Given the description of an element on the screen output the (x, y) to click on. 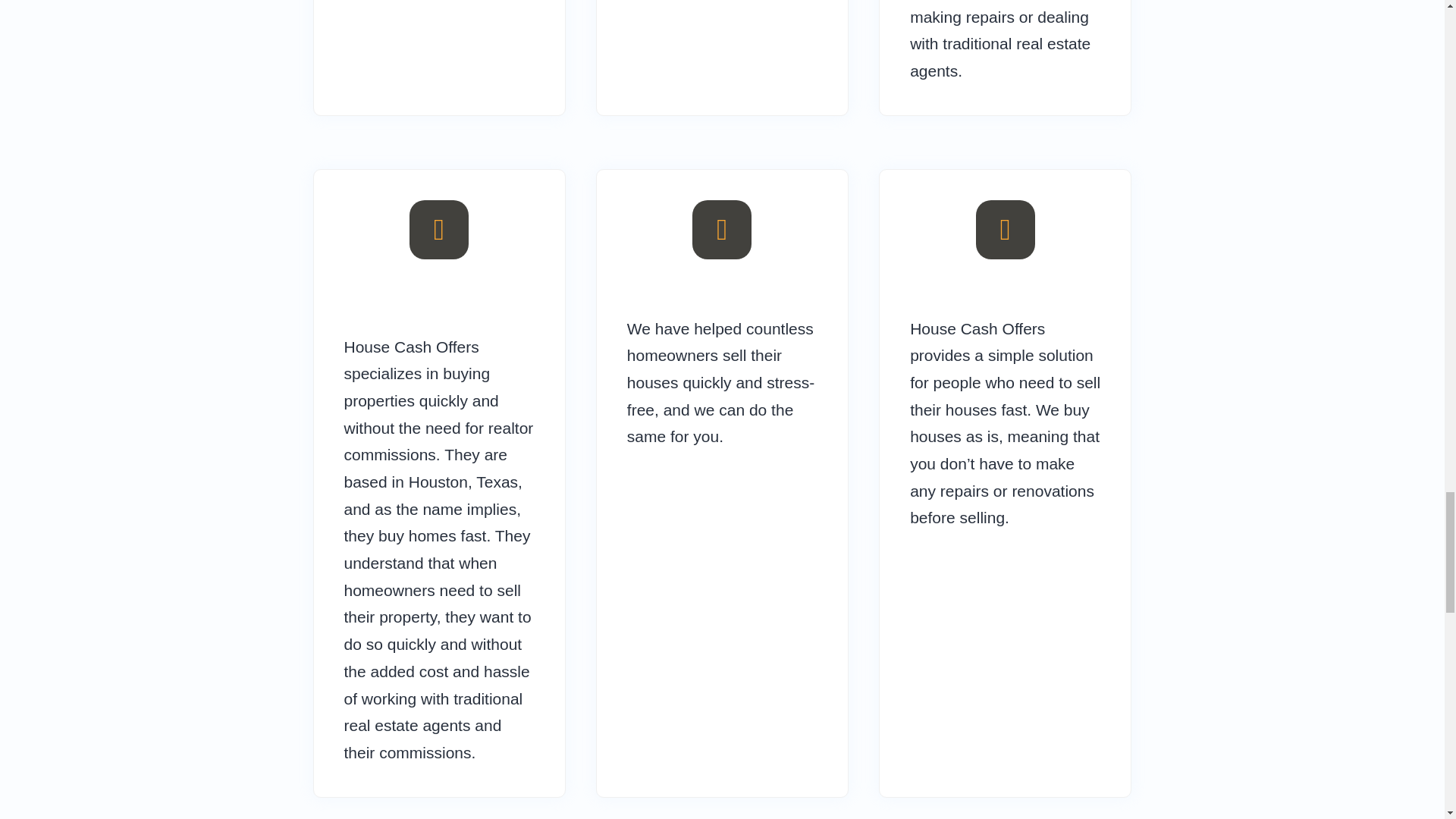
Houston (438, 481)
Houston (438, 481)
